Given the description of an element on the screen output the (x, y) to click on. 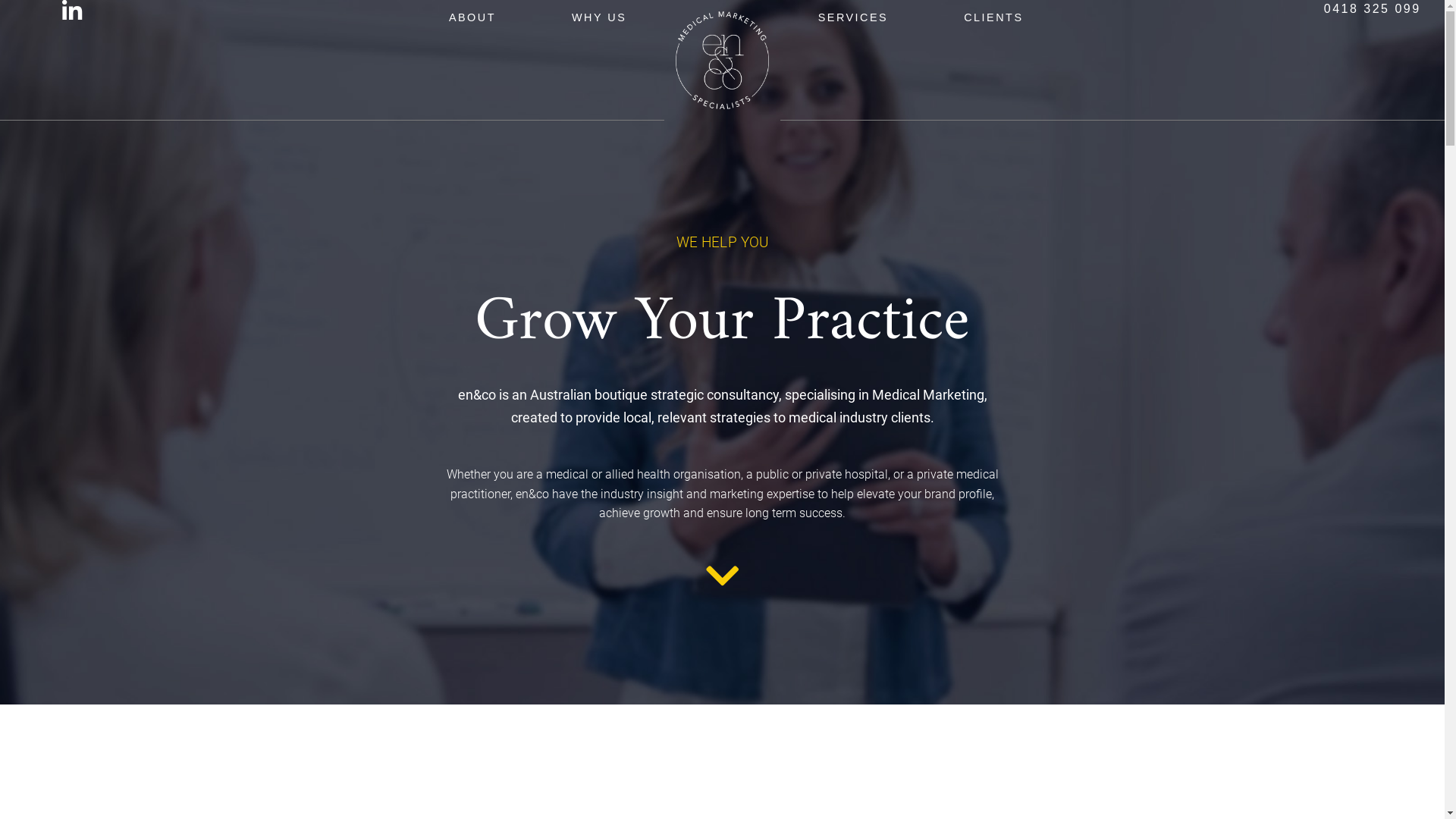
ABOUT Element type: text (472, 17)
SERVICES Element type: text (853, 17)
0418 325 099 Element type: text (1372, 8)
WHY US Element type: text (598, 17)
CLIENTS Element type: text (992, 17)
